Given the description of an element on the screen output the (x, y) to click on. 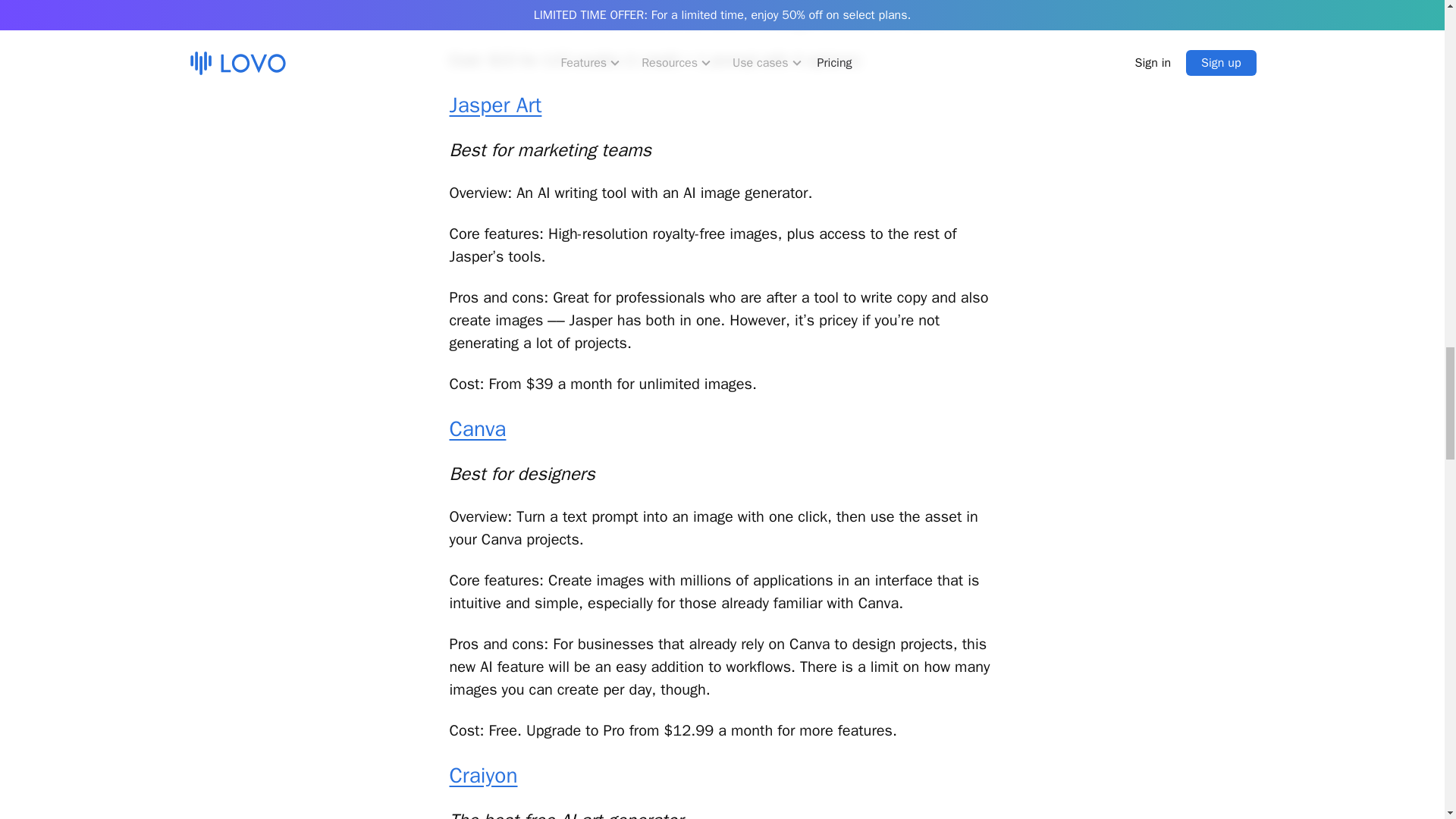
Jasper Art (494, 104)
Craiyon (482, 775)
Canva (476, 428)
